Given the description of an element on the screen output the (x, y) to click on. 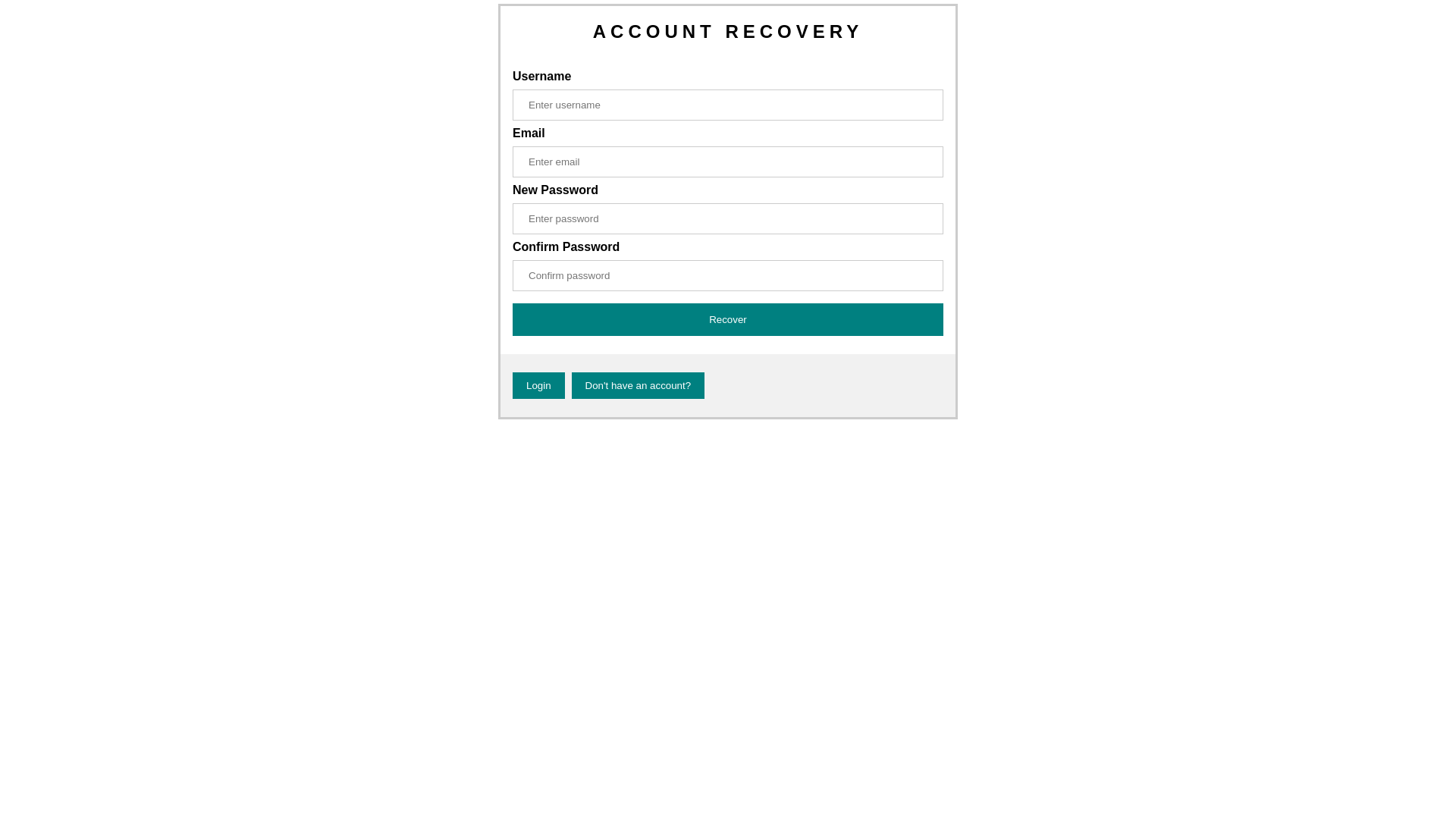
Recover Element type: text (727, 319)
Login Element type: text (538, 384)
Don't have an account? Element type: text (638, 384)
Login Element type: text (538, 385)
Don't have an account? Element type: text (638, 385)
